Given the description of an element on the screen output the (x, y) to click on. 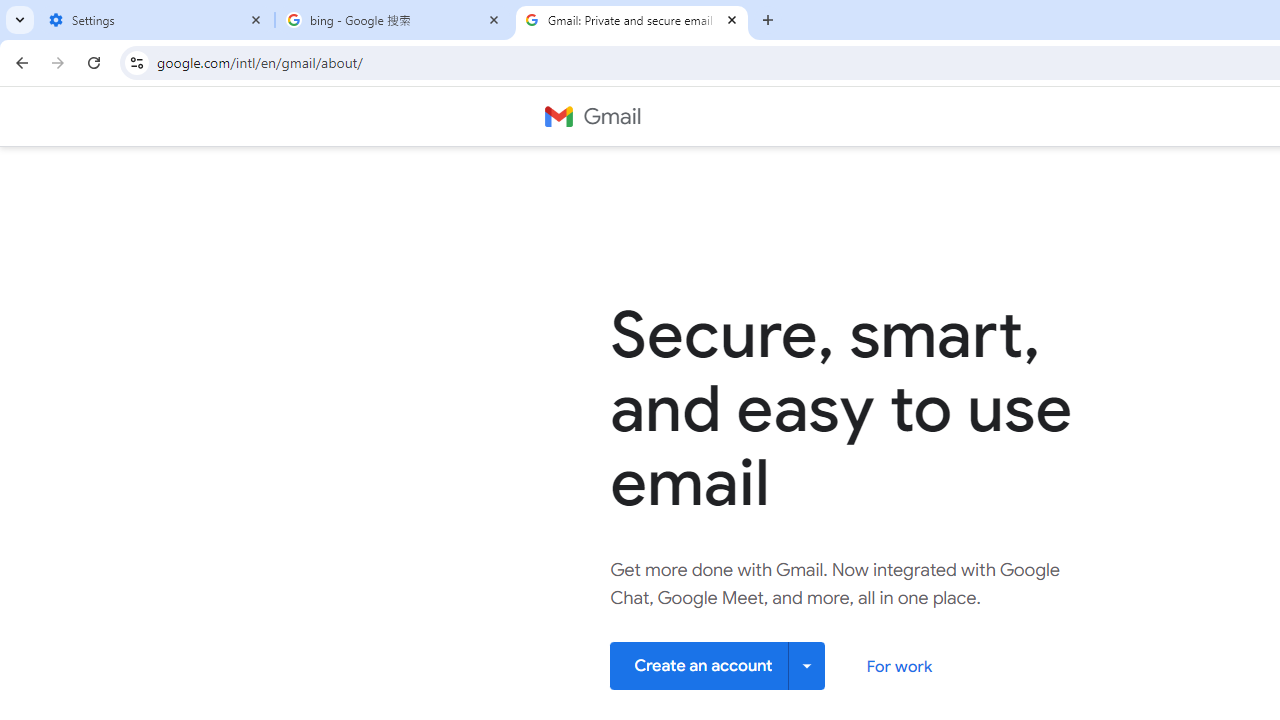
Gmail (592, 116)
For work (898, 665)
Create an account (717, 664)
Settings (156, 20)
